Given the description of an element on the screen output the (x, y) to click on. 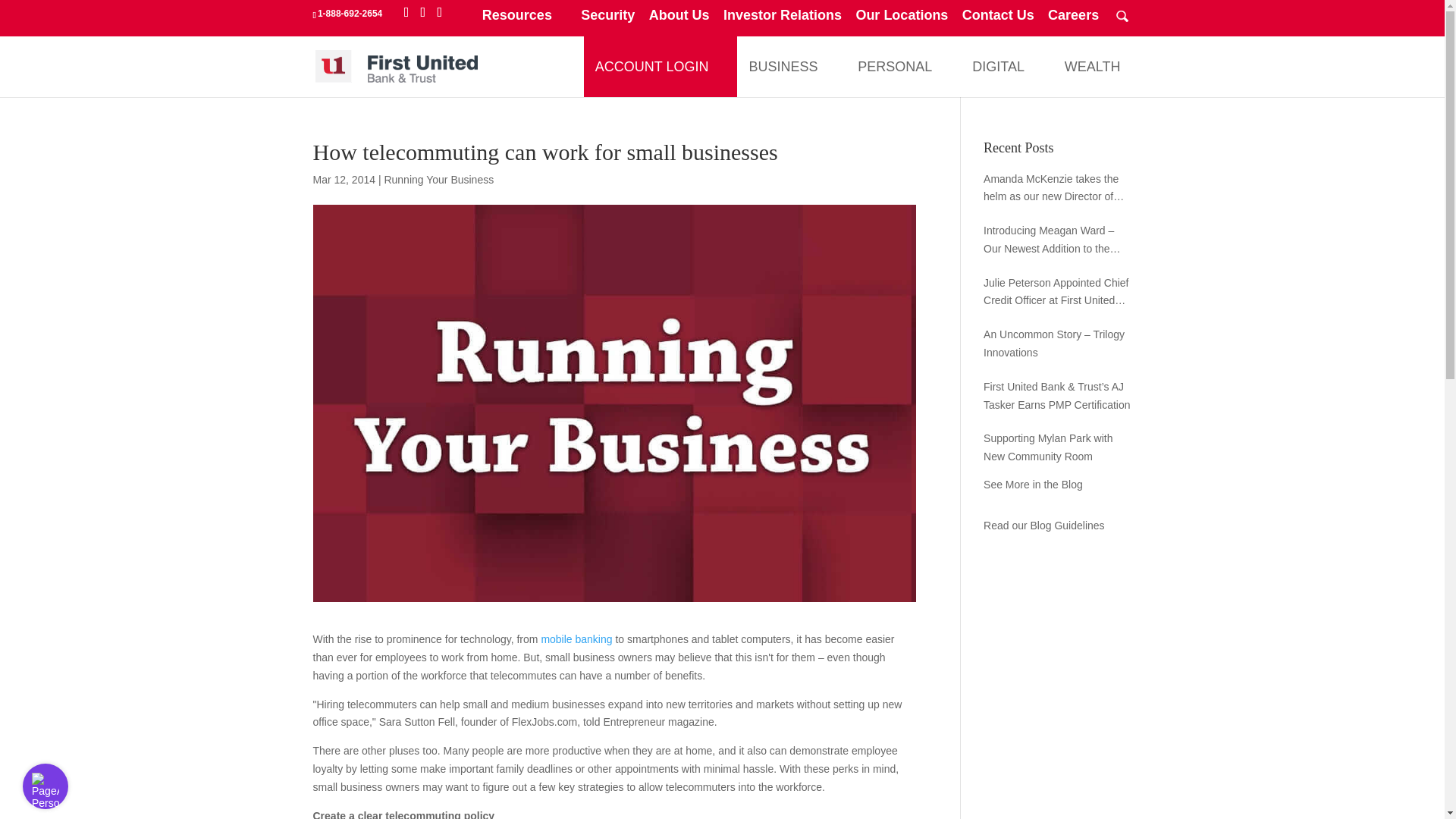
Our Locations (901, 20)
Resources (524, 20)
PERSONAL (894, 66)
BUSINESS (782, 66)
Investor Relations (782, 20)
Security (607, 20)
ACCOUNT LOGIN (651, 66)
About Us (679, 20)
Investor Relations (782, 20)
Contact Us (997, 20)
Careers (1073, 20)
Wealth (1092, 66)
